Given the description of an element on the screen output the (x, y) to click on. 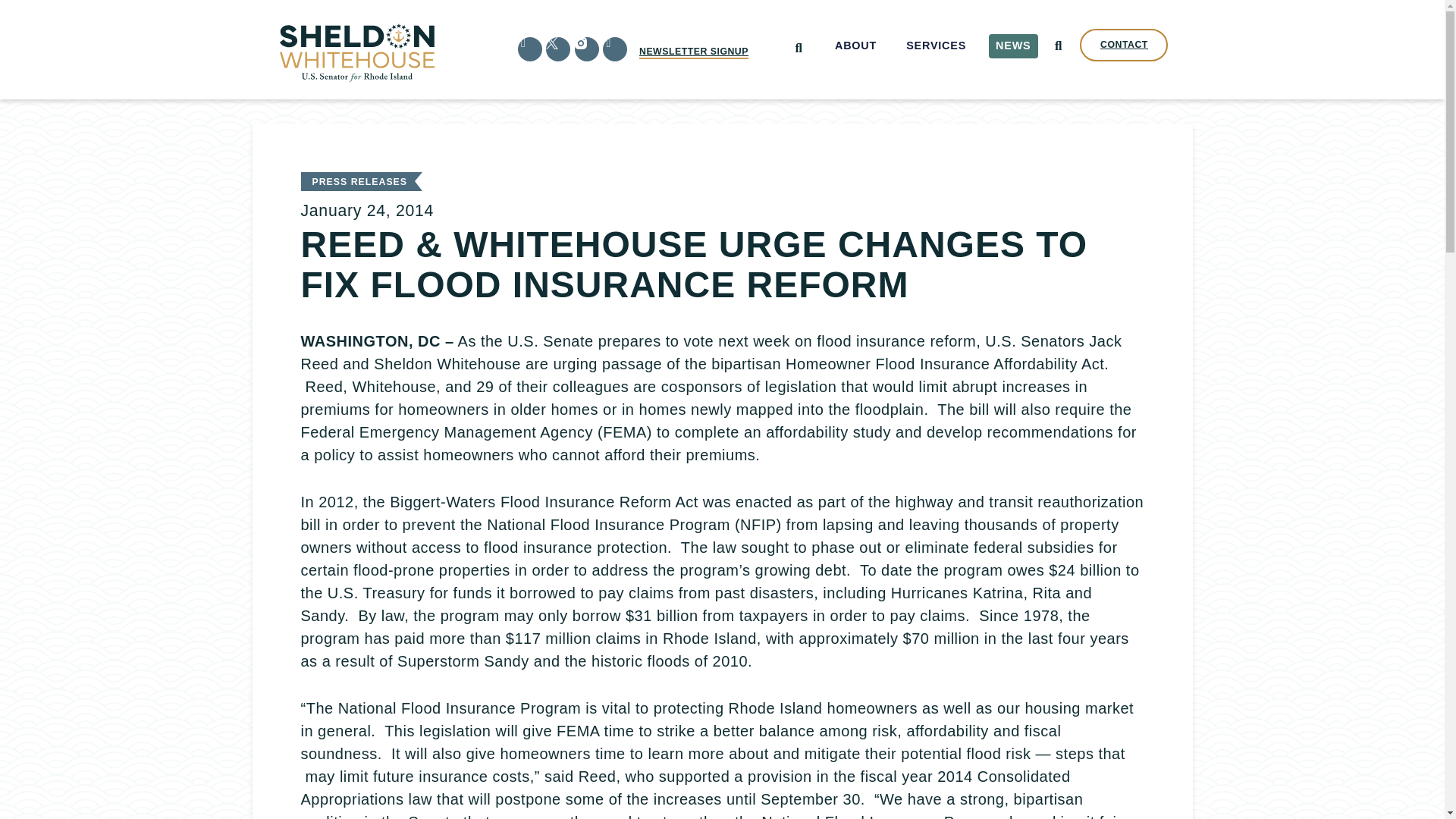
SERVICES (936, 46)
PRESS RELEASES (360, 181)
CONTACT (1123, 44)
NEWSLETTER SIGNUP (693, 51)
ABOUT (855, 46)
NEWS (1013, 46)
